Given the description of an element on the screen output the (x, y) to click on. 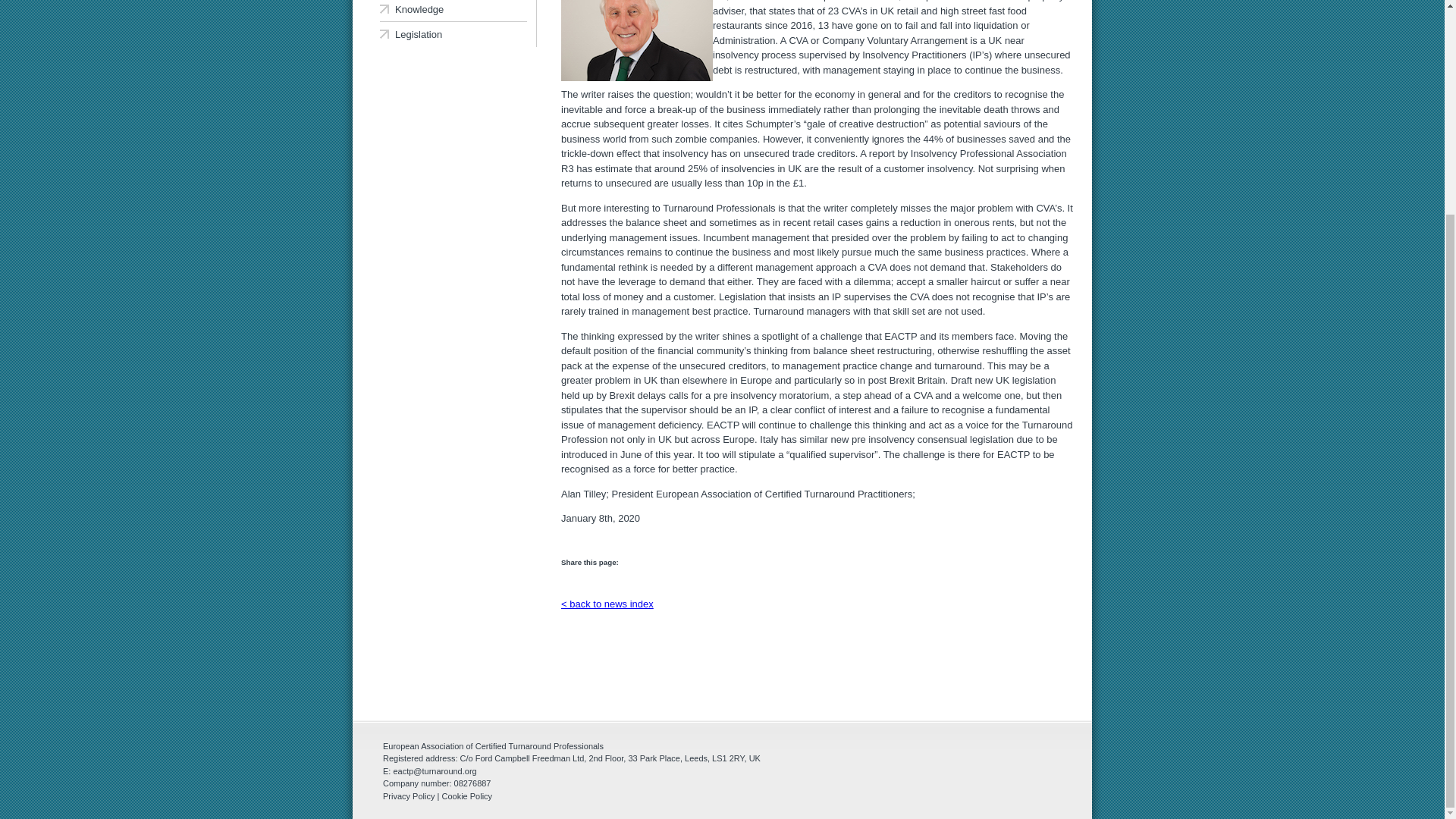
Knowledge (453, 11)
